Given the description of an element on the screen output the (x, y) to click on. 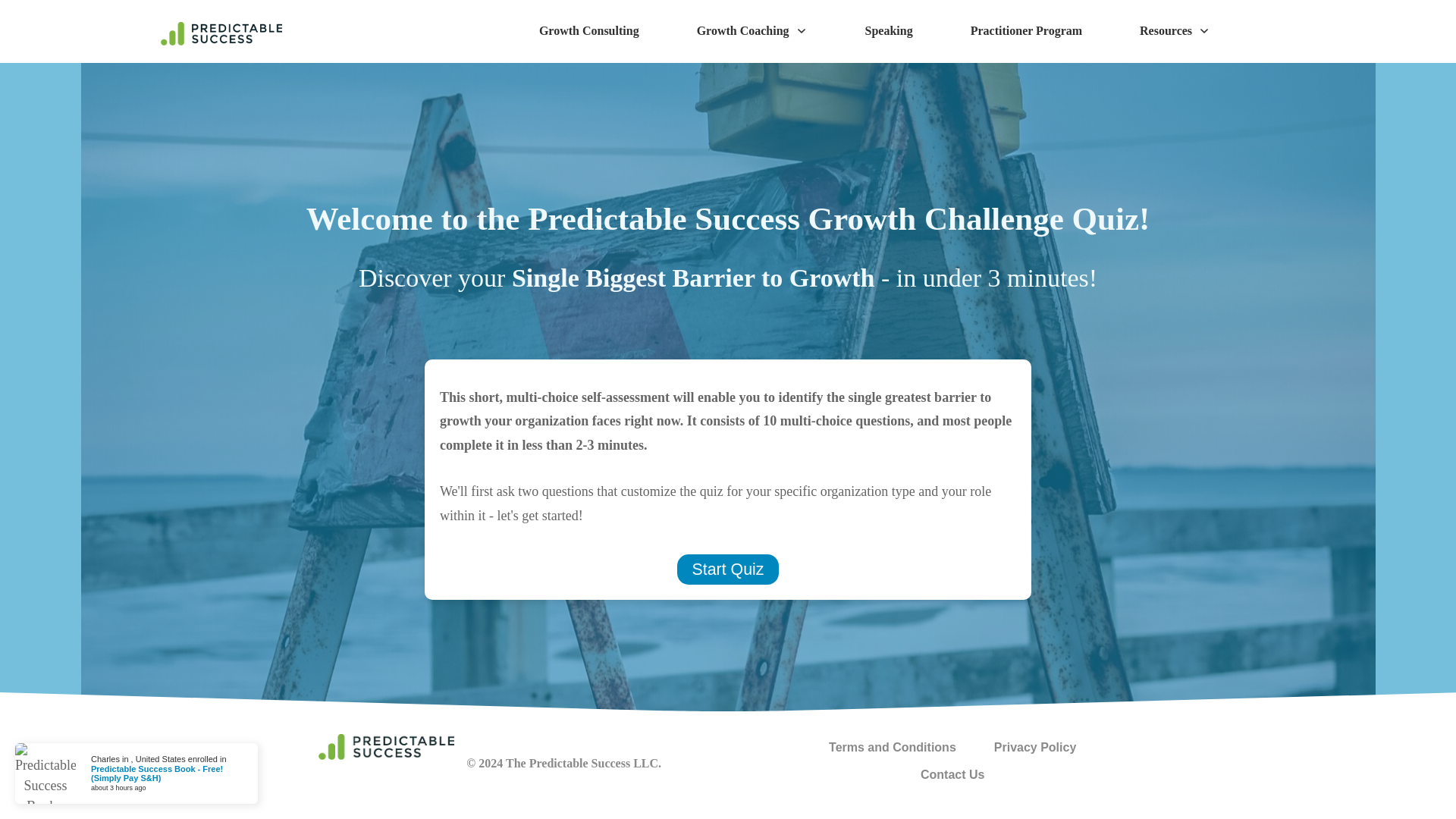
Resources (1174, 30)
Speaking (888, 30)
Growth Coaching (752, 30)
logo-footer (386, 746)
Terms and Conditions (892, 747)
Start Quiz (727, 569)
Privacy Policy (1035, 747)
Contact Us (952, 774)
Growth Consulting (588, 30)
Practitioner Program (1026, 30)
